Given the description of an element on the screen output the (x, y) to click on. 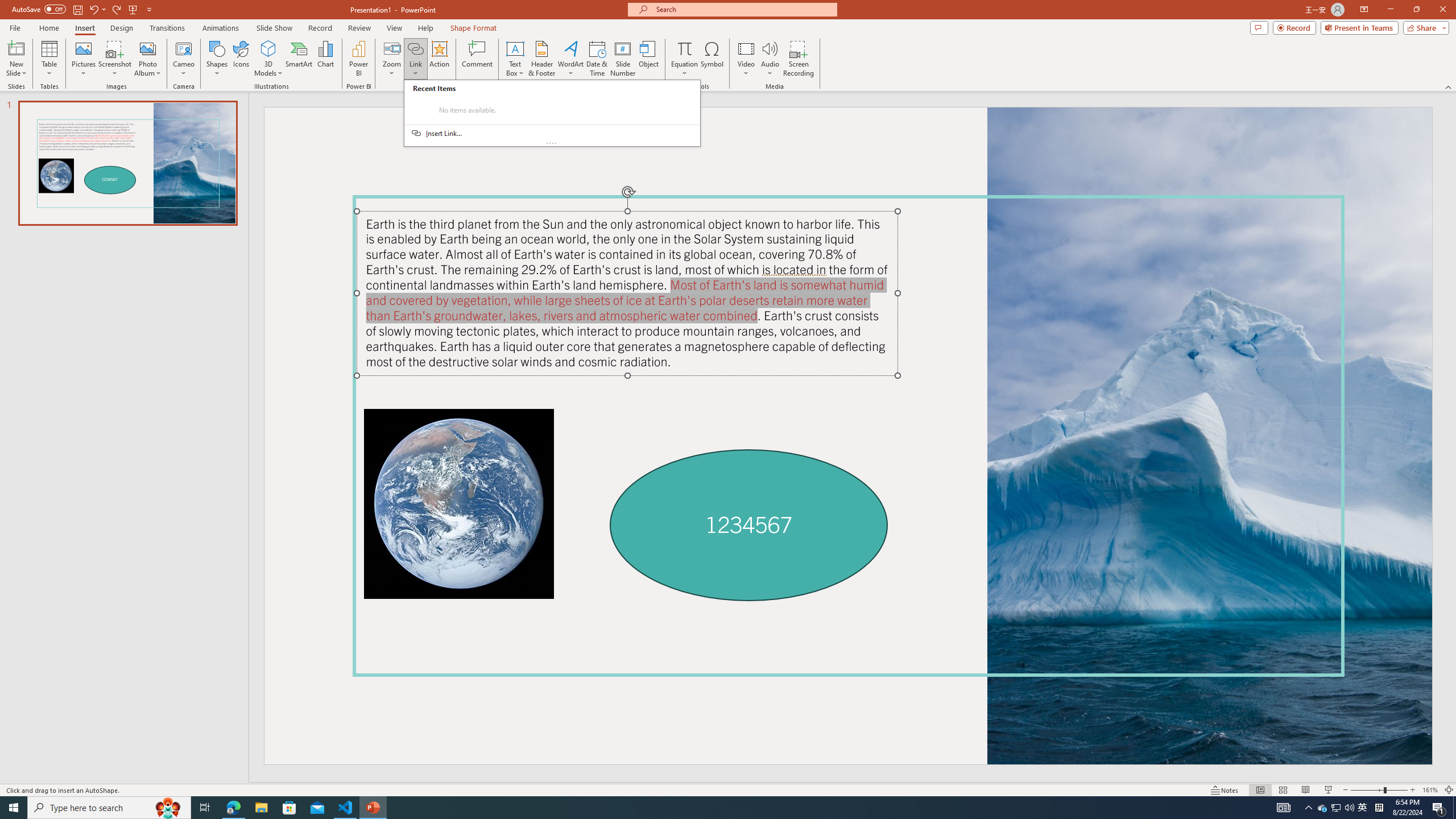
Header & Footer... (541, 58)
Screen Recording... (798, 58)
Link (415, 48)
SmartArt... (298, 58)
Table (49, 58)
